Given the description of an element on the screen output the (x, y) to click on. 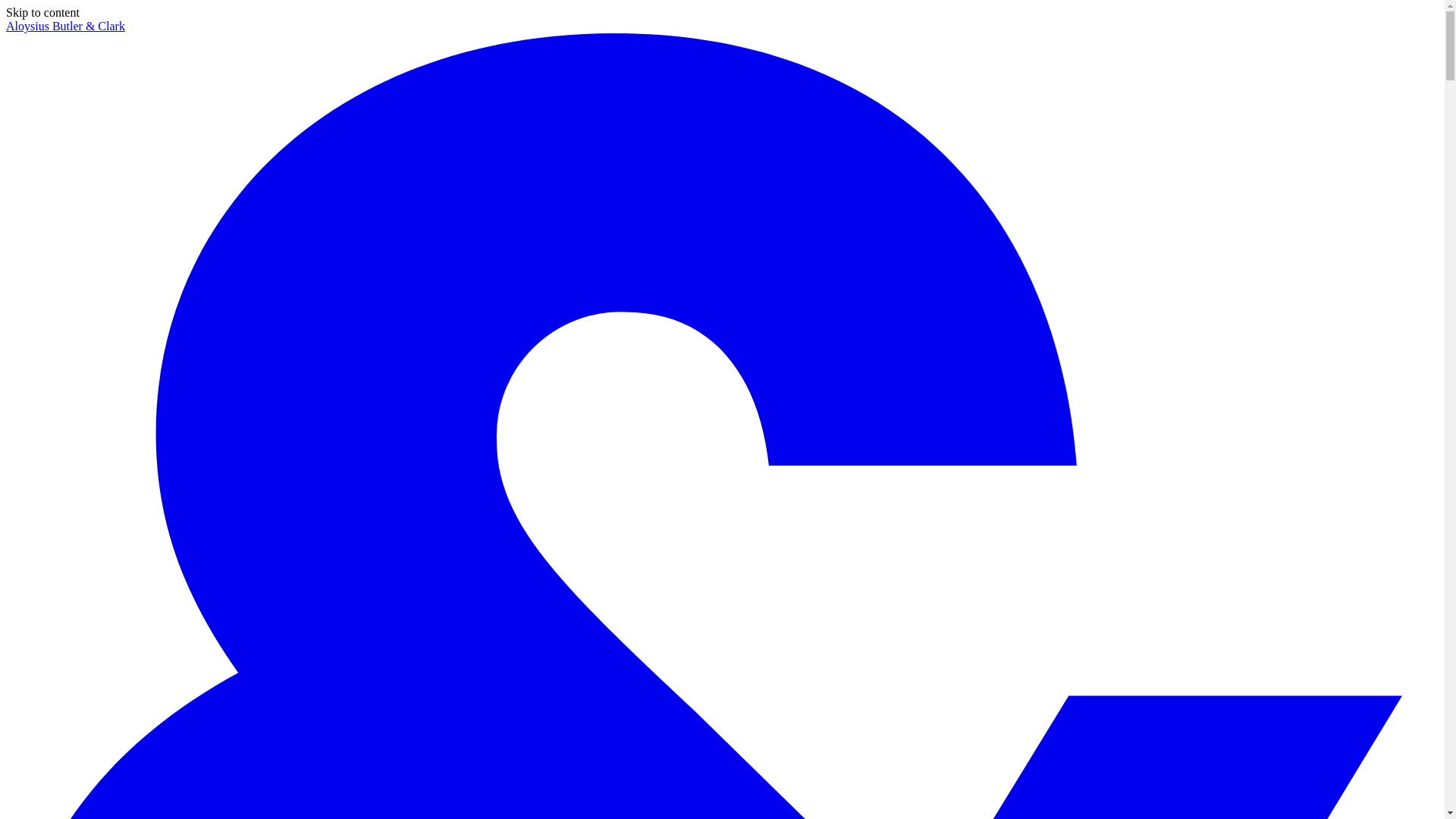
Skip to content (42, 11)
